Given the description of an element on the screen output the (x, y) to click on. 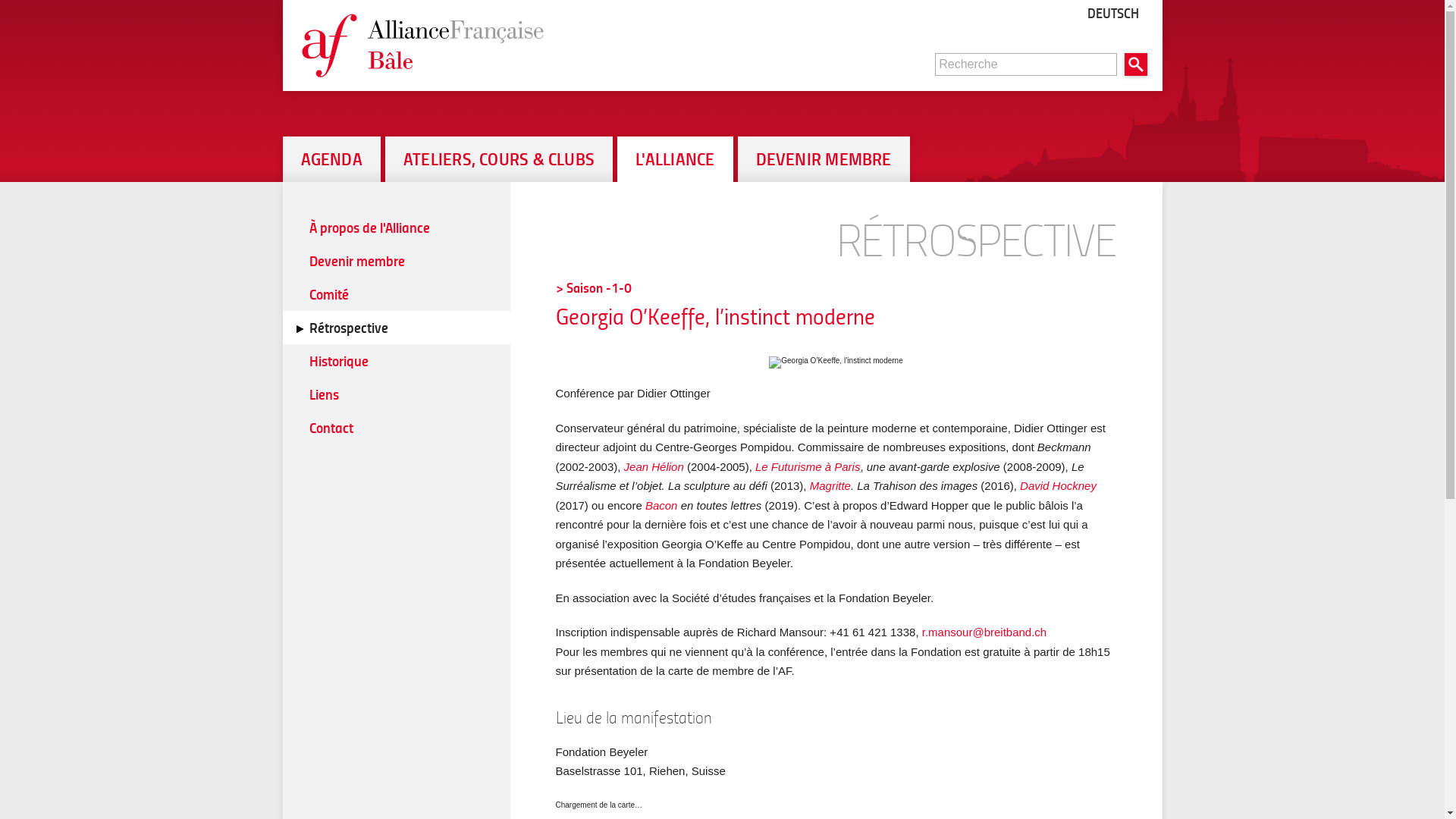
AGENDA Element type: text (330, 159)
Liens Element type: text (395, 394)
Contact Element type: text (395, 427)
ATELIERS, COURS & CLUBS Element type: text (498, 159)
DEVENIR MEMBRE Element type: text (823, 159)
r.mansour@breitband.ch Element type: text (984, 631)
> Saison -1-0 Element type: text (592, 287)
Magritte Element type: text (829, 485)
DEUTSCH Element type: text (1112, 11)
David Hockney Element type: text (1057, 485)
L'ALLIANCE Element type: text (674, 159)
Rechercher Element type: text (1134, 64)
Historique Element type: text (395, 360)
Bacon Element type: text (661, 504)
Devenir membre Element type: text (395, 260)
